Given the description of an element on the screen output the (x, y) to click on. 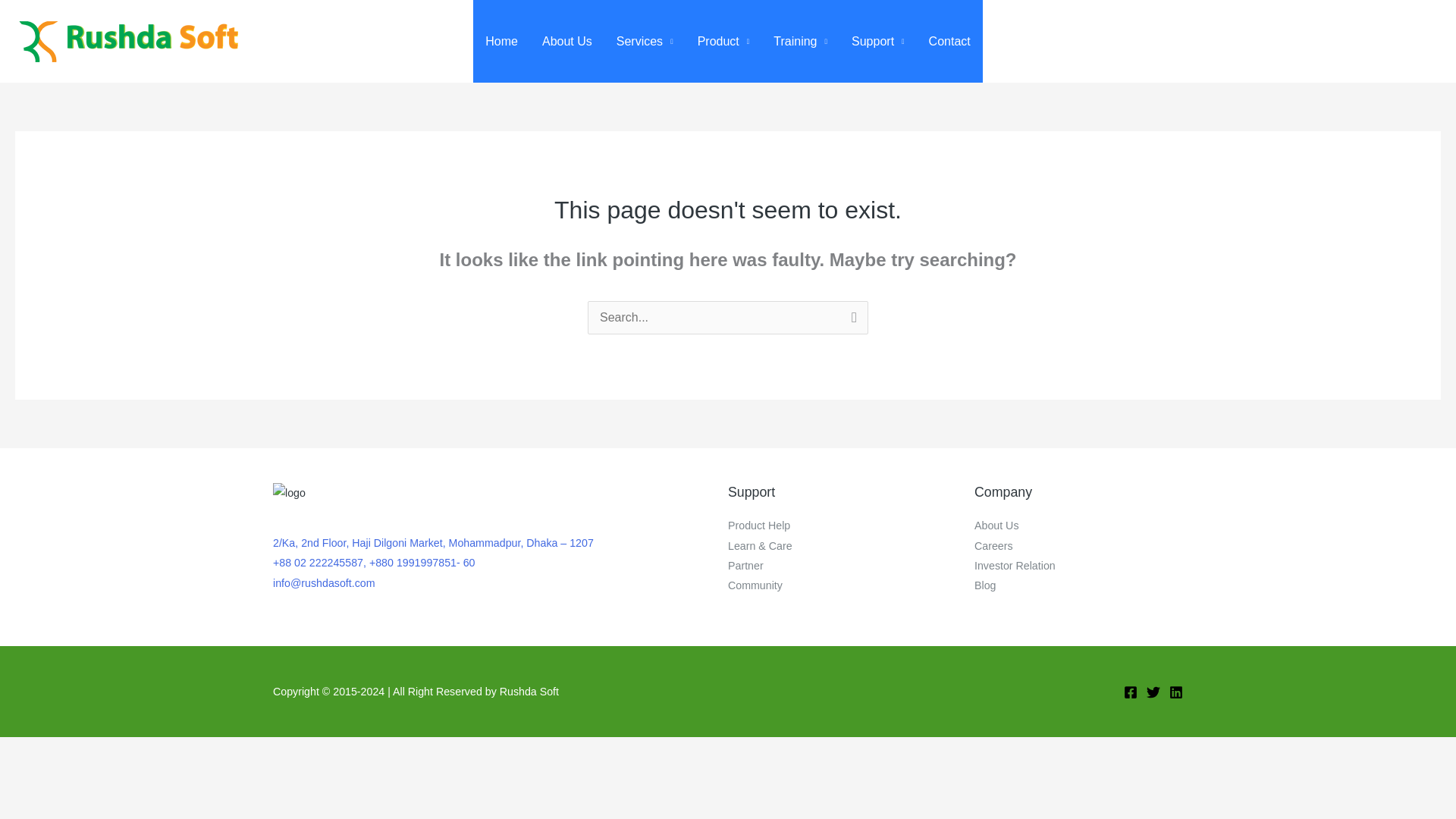
About Us (566, 41)
Support (878, 41)
Product (723, 41)
Services (644, 41)
Training (800, 41)
